Given the description of an element on the screen output the (x, y) to click on. 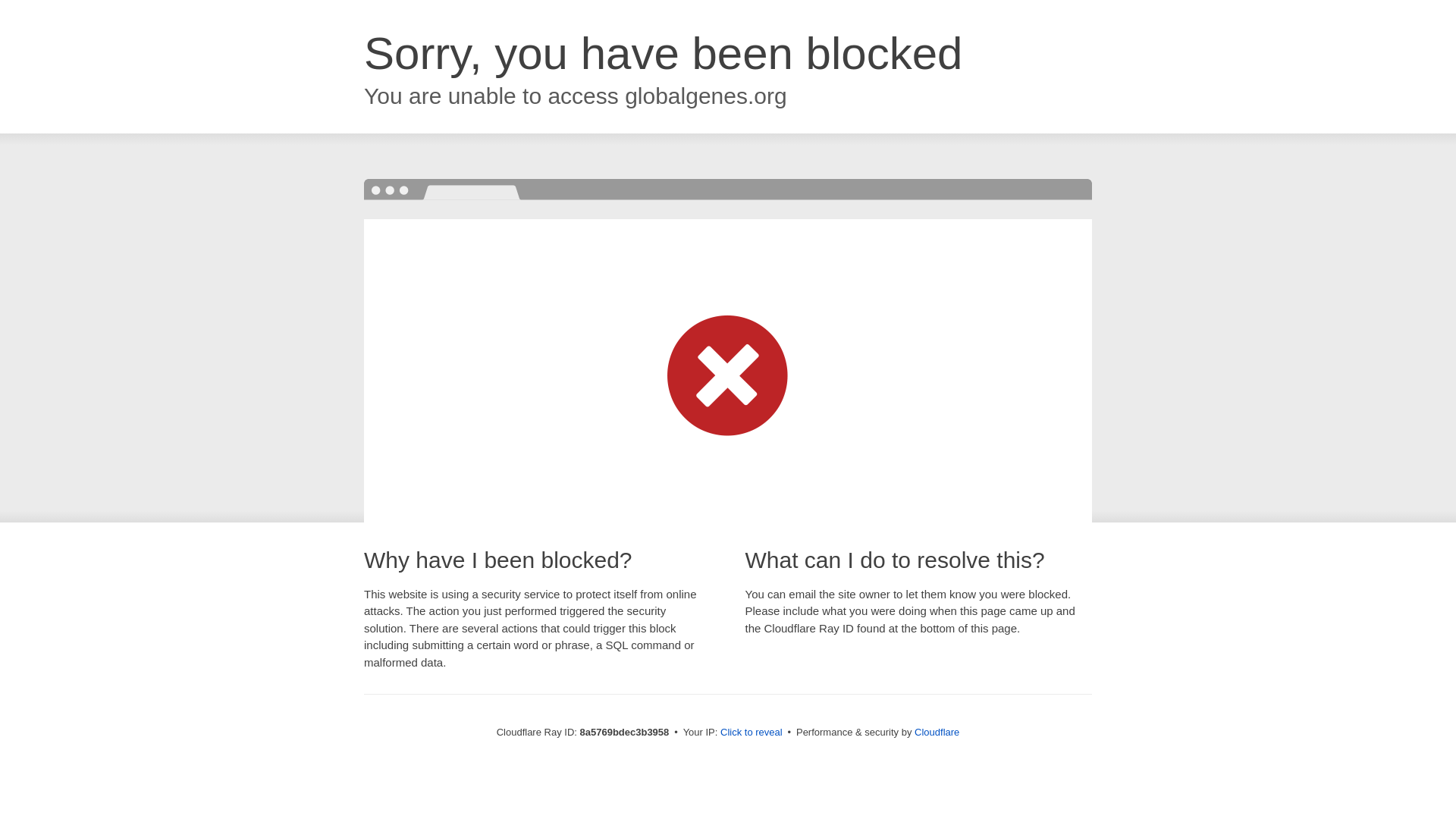
Cloudflare (936, 731)
Click to reveal (751, 732)
